Given the description of an element on the screen output the (x, y) to click on. 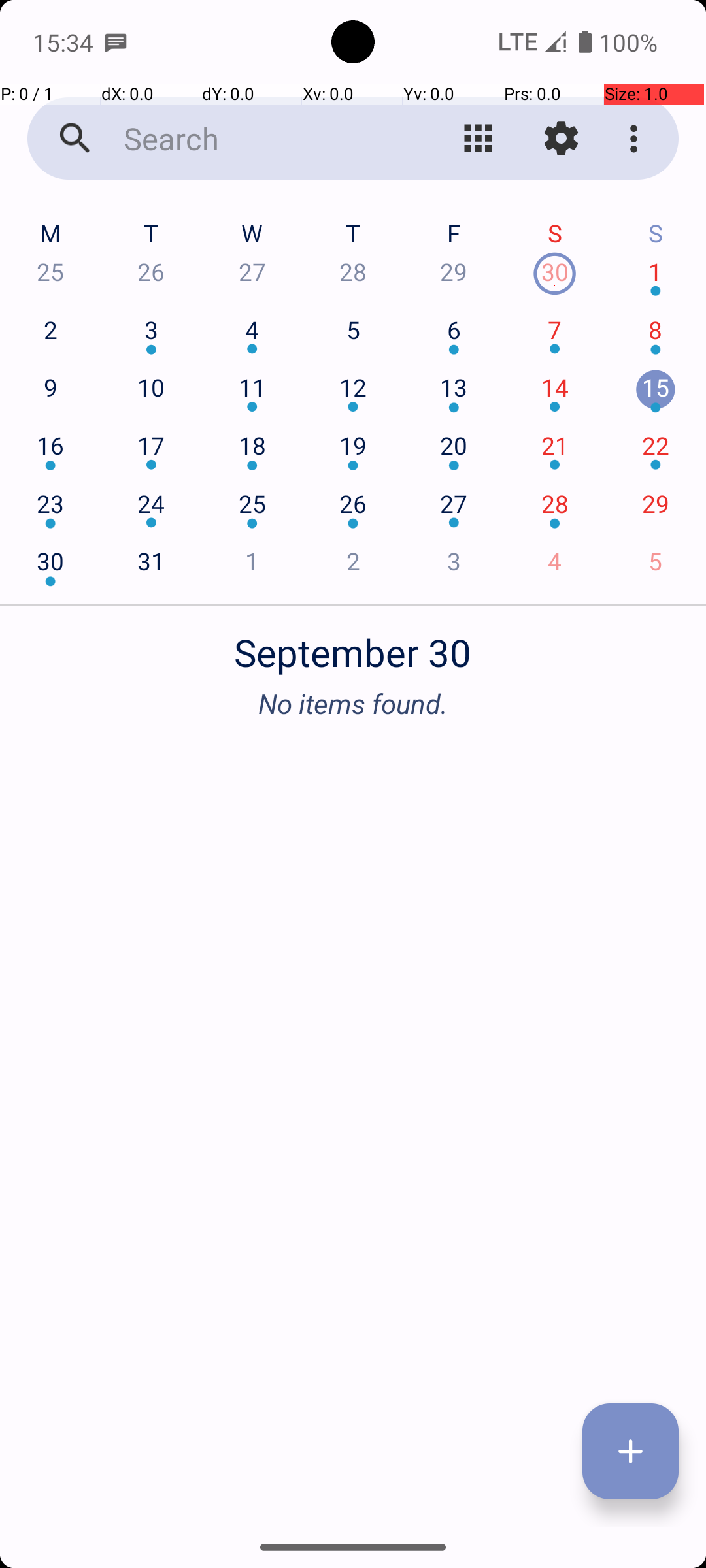
September 30 Element type: android.widget.TextView (352, 644)
